Given the description of an element on the screen output the (x, y) to click on. 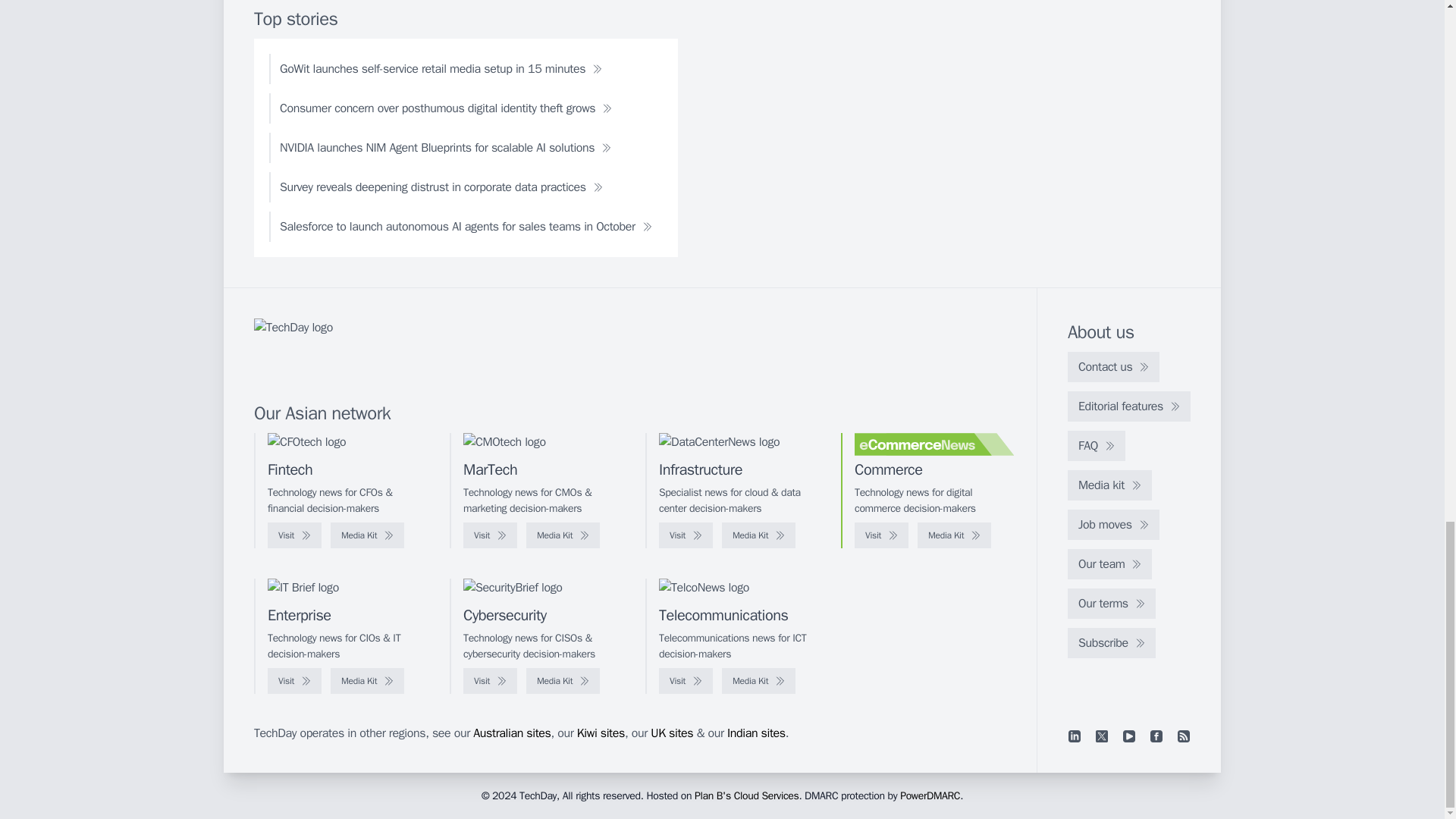
Media Kit (758, 534)
Visit (686, 534)
Media Kit (562, 534)
Media Kit (367, 534)
Visit (489, 534)
Media Kit (954, 534)
Visit (881, 534)
